Given the description of an element on the screen output the (x, y) to click on. 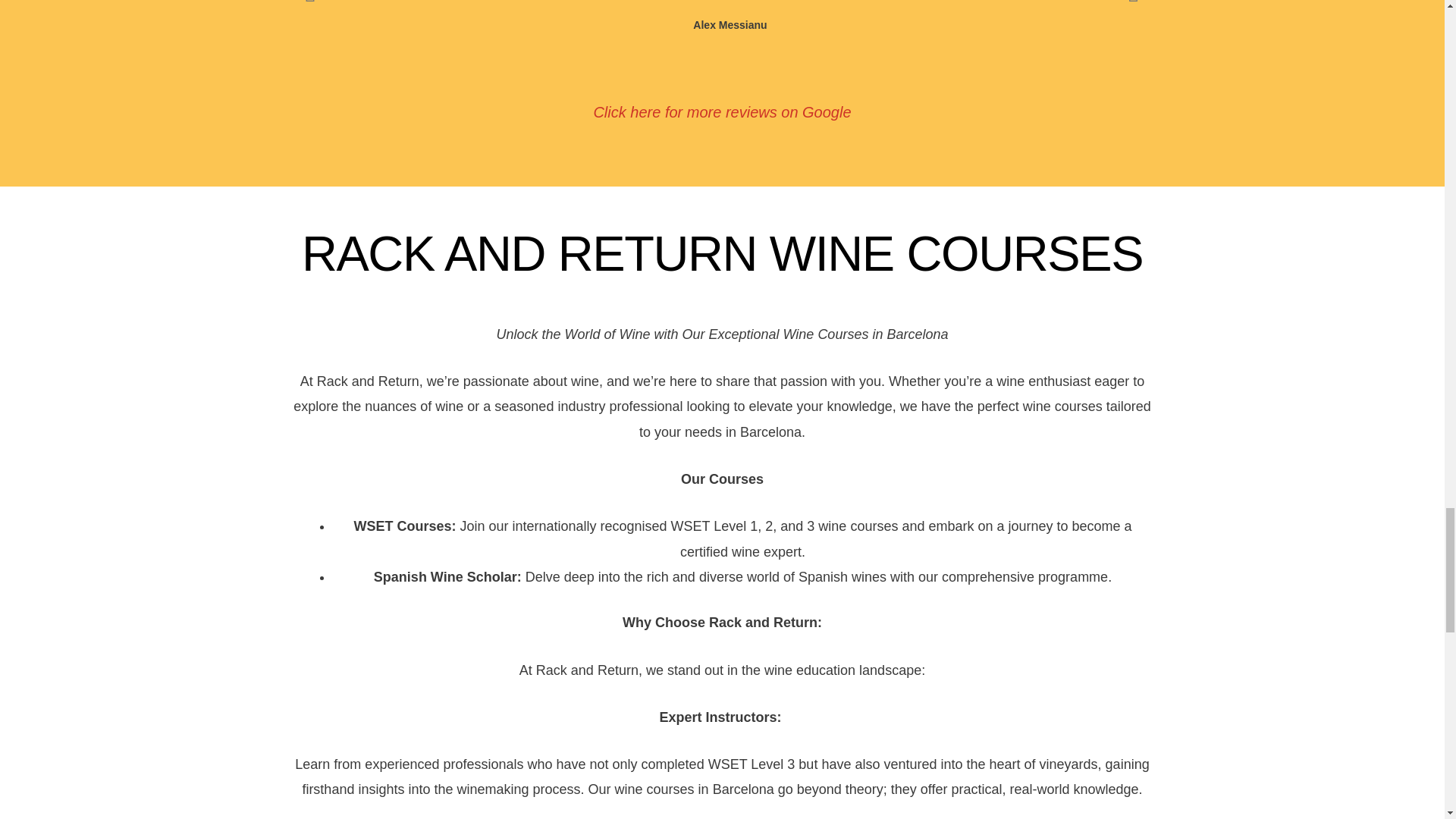
Click here for more reviews on Google (721, 112)
